Given the description of an element on the screen output the (x, y) to click on. 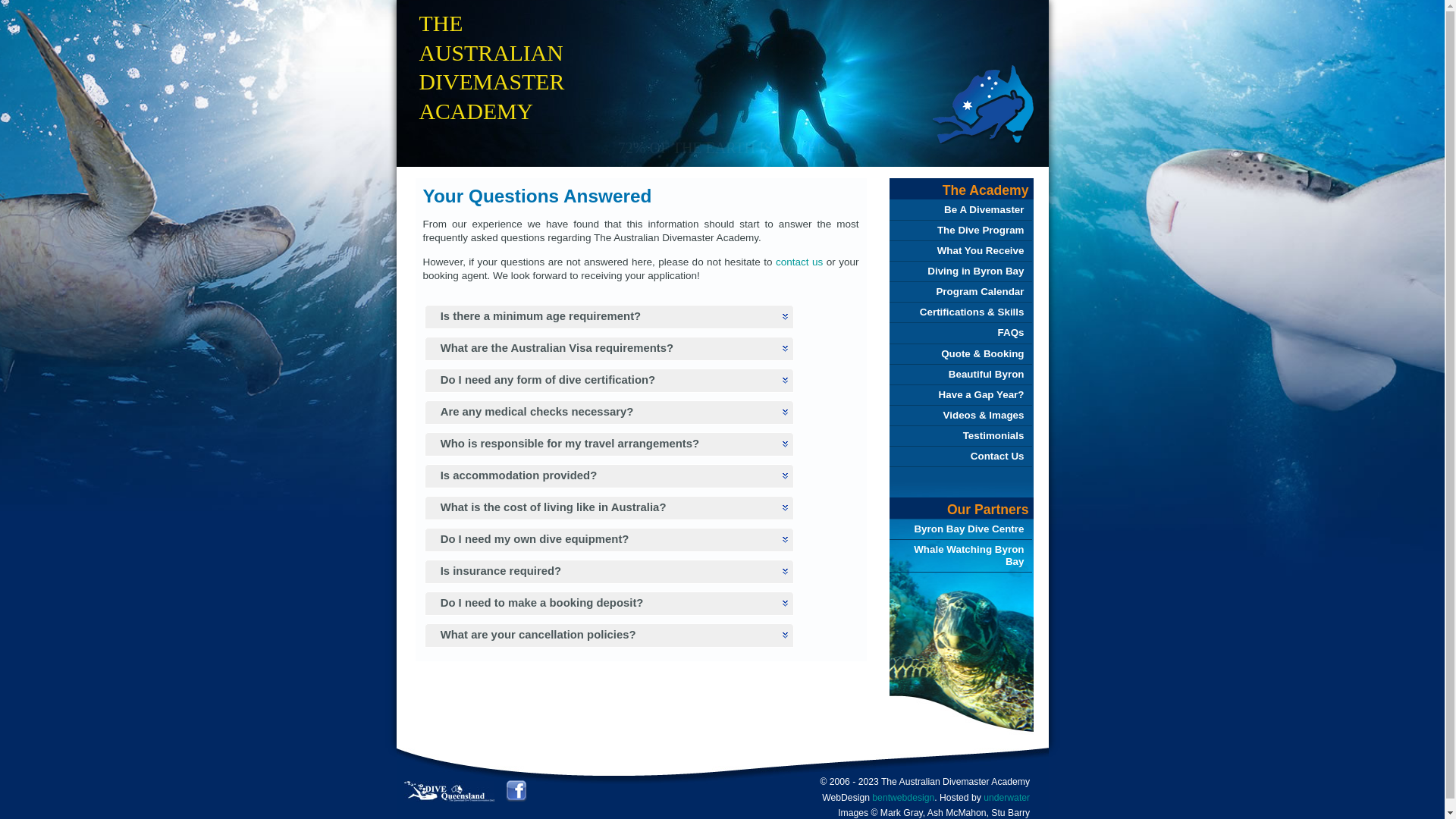
Like Us on Facebook Element type: hover (515, 797)
What is the cost of living like in Australia? Element type: text (608, 507)
FAQs Element type: text (959, 332)
Do I need to make a booking deposit? Element type: text (608, 603)
Contact Us Element type: text (959, 456)
Be A Divemaster Element type: text (959, 209)
Quote & Booking Element type: text (959, 354)
What are the Australian Visa requirements? Element type: text (608, 348)
Program Calendar Element type: text (959, 291)
Beautiful Byron Element type: text (959, 374)
Have a Gap Year? Element type: text (959, 394)
Certifications & Skills Element type: text (959, 312)
underwater Element type: text (1006, 797)
Is accommodation provided? Element type: text (608, 476)
Who is responsible for my travel arrangements? Element type: text (608, 444)
Whale Watching Byron Bay Element type: text (959, 555)
Are any medical checks necessary? Element type: text (608, 412)
Diving in Byron Bay Element type: text (959, 271)
Videos & Images Element type: text (959, 415)
Is there a minimum age requirement? Element type: text (608, 316)
What You Receive Element type: text (959, 250)
Do I need my own dive equipment? Element type: text (608, 539)
Testimonials Element type: text (959, 435)
Dive Queensland Element type: hover (448, 797)
bentwebdesign Element type: text (903, 797)
contact us Element type: text (798, 261)
Byron Bay Dive Centre Element type: text (959, 529)
Is insurance required? Element type: text (608, 571)
Do I need any form of dive certification? Element type: text (608, 380)
What are your cancellation policies? Element type: text (608, 635)
The Dive Program Element type: text (959, 230)
